Given the description of an element on the screen output the (x, y) to click on. 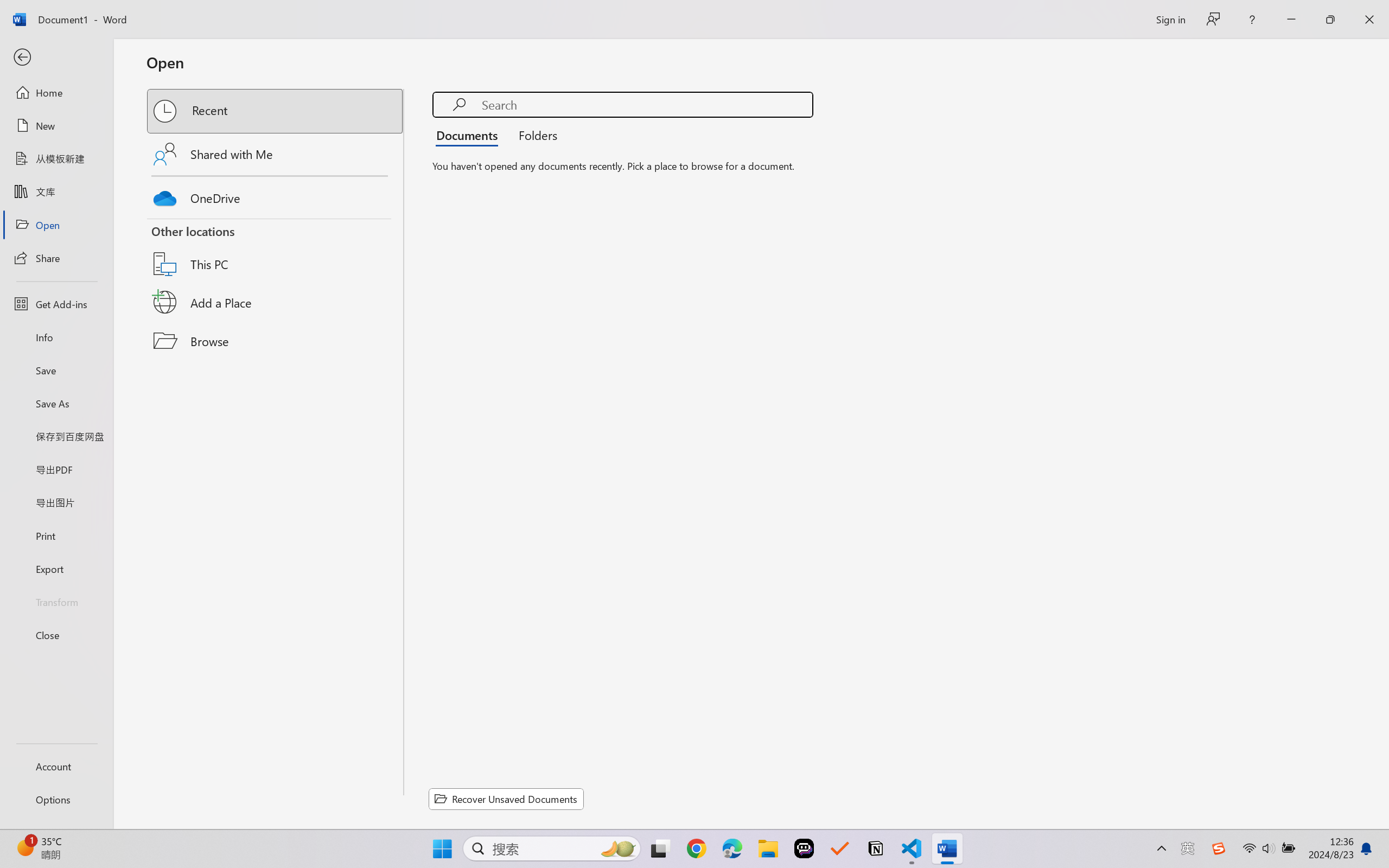
Export (56, 568)
OneDrive (275, 195)
Print (56, 535)
This PC (275, 249)
Add a Place (275, 302)
Get Add-ins (56, 303)
New (56, 125)
Recover Unsaved Documents (506, 798)
Info (56, 337)
